Given the description of an element on the screen output the (x, y) to click on. 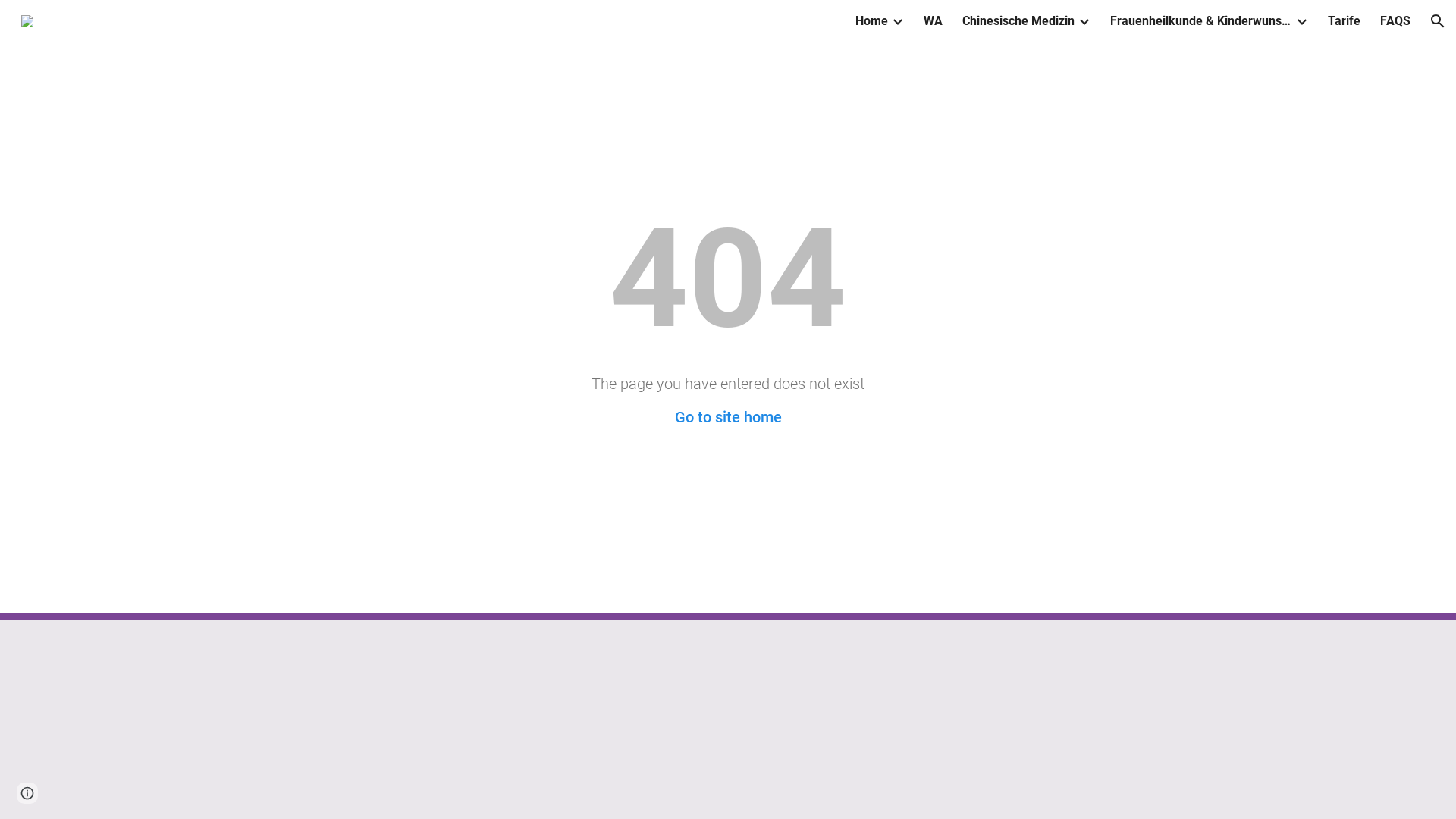
Expand/Collapse Element type: hover (1083, 20)
Tarife Element type: text (1343, 20)
Frauenheilkunde & Kinderwunsch Element type: text (1201, 20)
Go to site home Element type: text (727, 416)
Home Element type: text (871, 20)
Expand/Collapse Element type: hover (896, 20)
FAQS Element type: text (1395, 20)
WA Element type: text (932, 20)
Expand/Collapse Element type: hover (1301, 20)
Chinesische Medizin Element type: text (1018, 20)
